Given the description of an element on the screen output the (x, y) to click on. 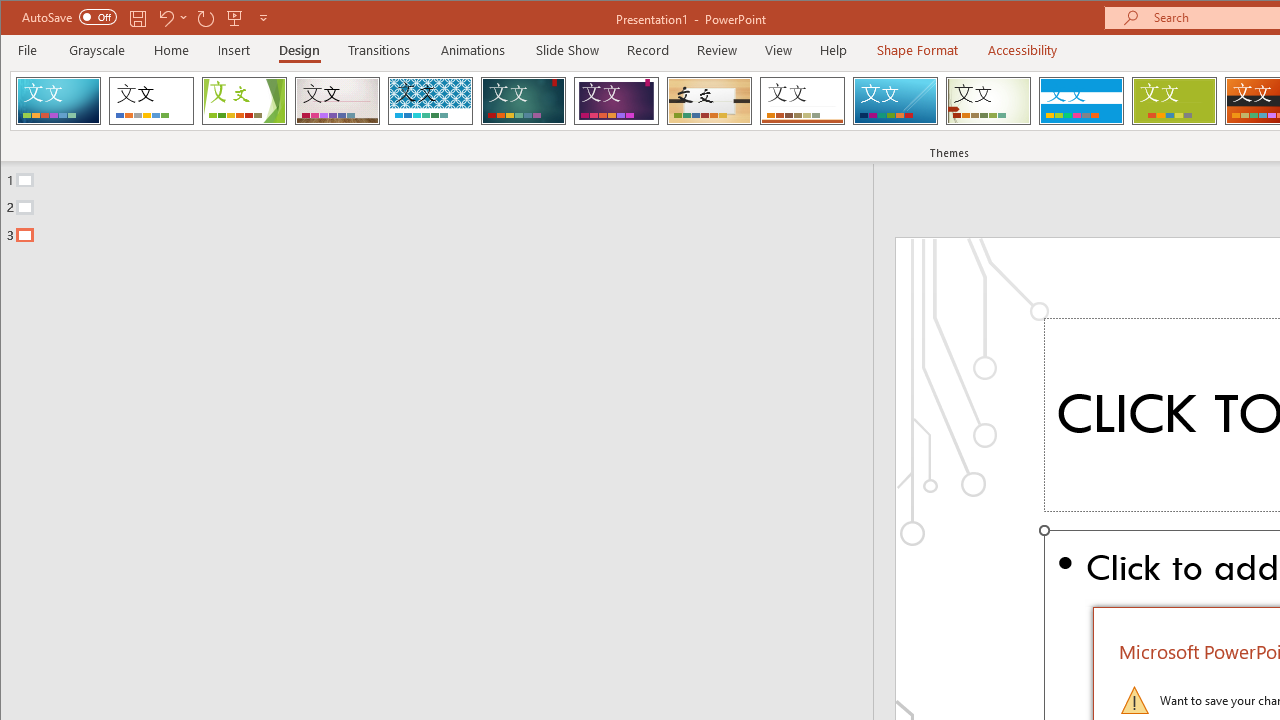
Wisp (988, 100)
Slice (895, 100)
Organic (709, 100)
Ion (523, 100)
Office Theme (151, 100)
Gallery (337, 100)
Ion Boardroom (616, 100)
Grayscale (97, 50)
